Given the description of an element on the screen output the (x, y) to click on. 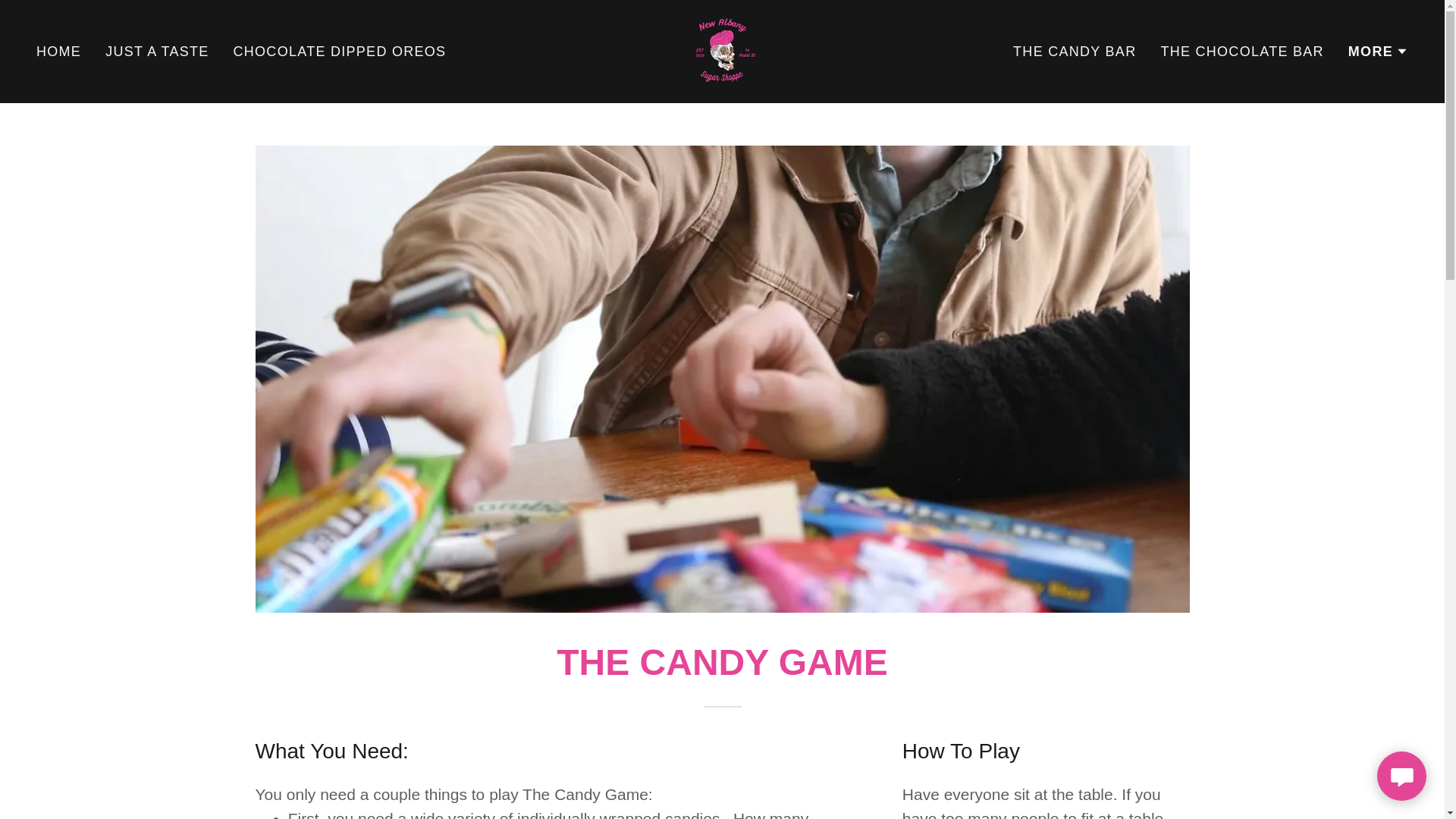
MORE (1377, 51)
THE CANDY BAR (1074, 51)
CHOCOLATE DIPPED OREOS (721, 49)
THE CHOCOLATE BAR (339, 51)
JUST A TASTE (1241, 51)
HOME (156, 51)
